Given the description of an element on the screen output the (x, y) to click on. 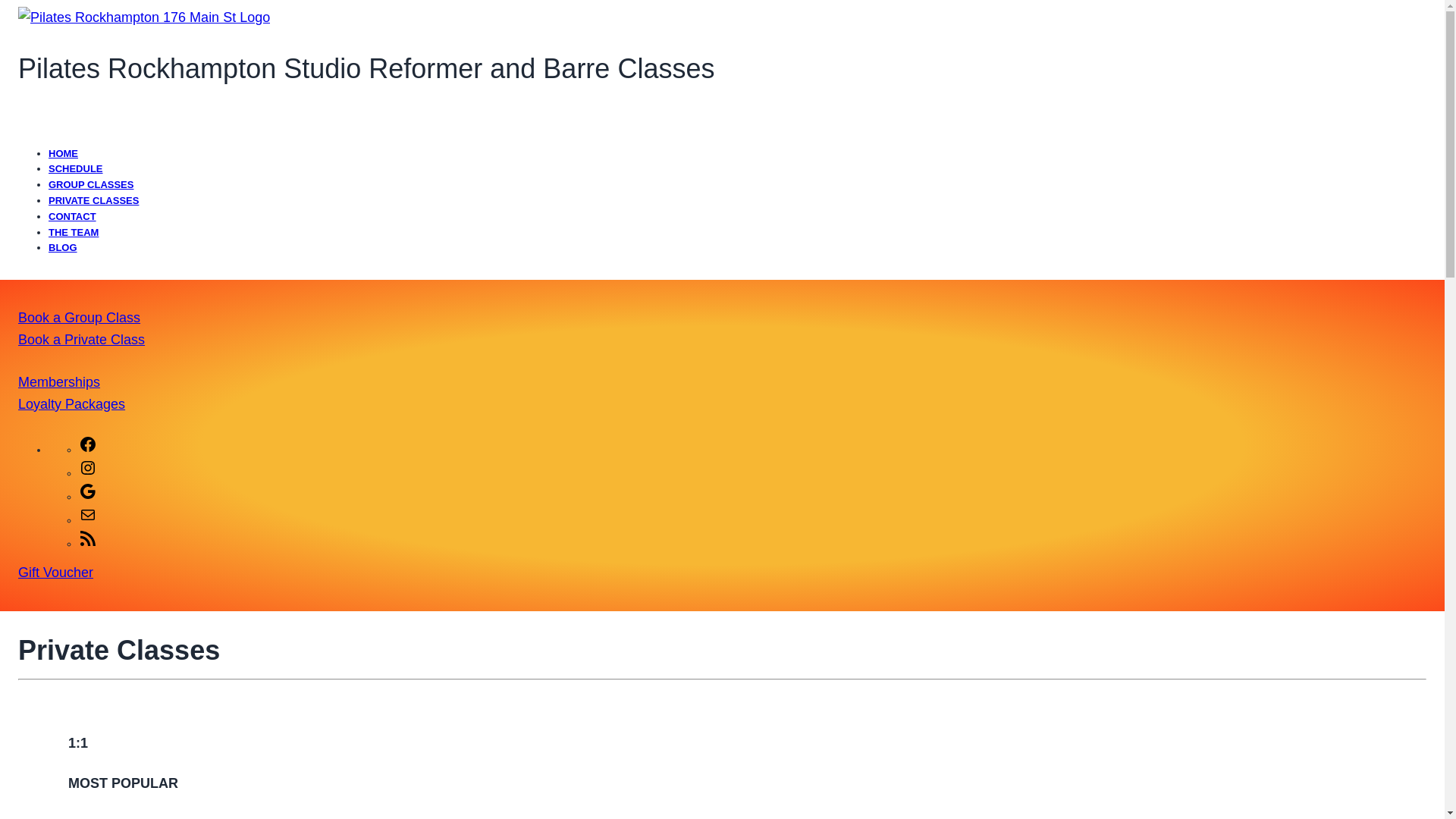
Group Classes (90, 184)
Contact (72, 215)
Pilates Rockhampton Studio Home Page (63, 153)
Gift Voucher (721, 572)
THE TEAM (73, 232)
Loyalty Packages (71, 403)
PILATES ROCKHAMPTON GOOGLE PROFILE (87, 496)
The Team (73, 232)
PILATES ROCKHAMPTON INSTAGRAM (87, 473)
PILATES ROCKHAMPTON FACEBOOK PAGE (87, 449)
Memberships (58, 381)
LATEST BLOG POSTS AND ARTICLES (87, 543)
Blog (62, 247)
CONTACT (72, 215)
HOME (63, 153)
